Given the description of an element on the screen output the (x, y) to click on. 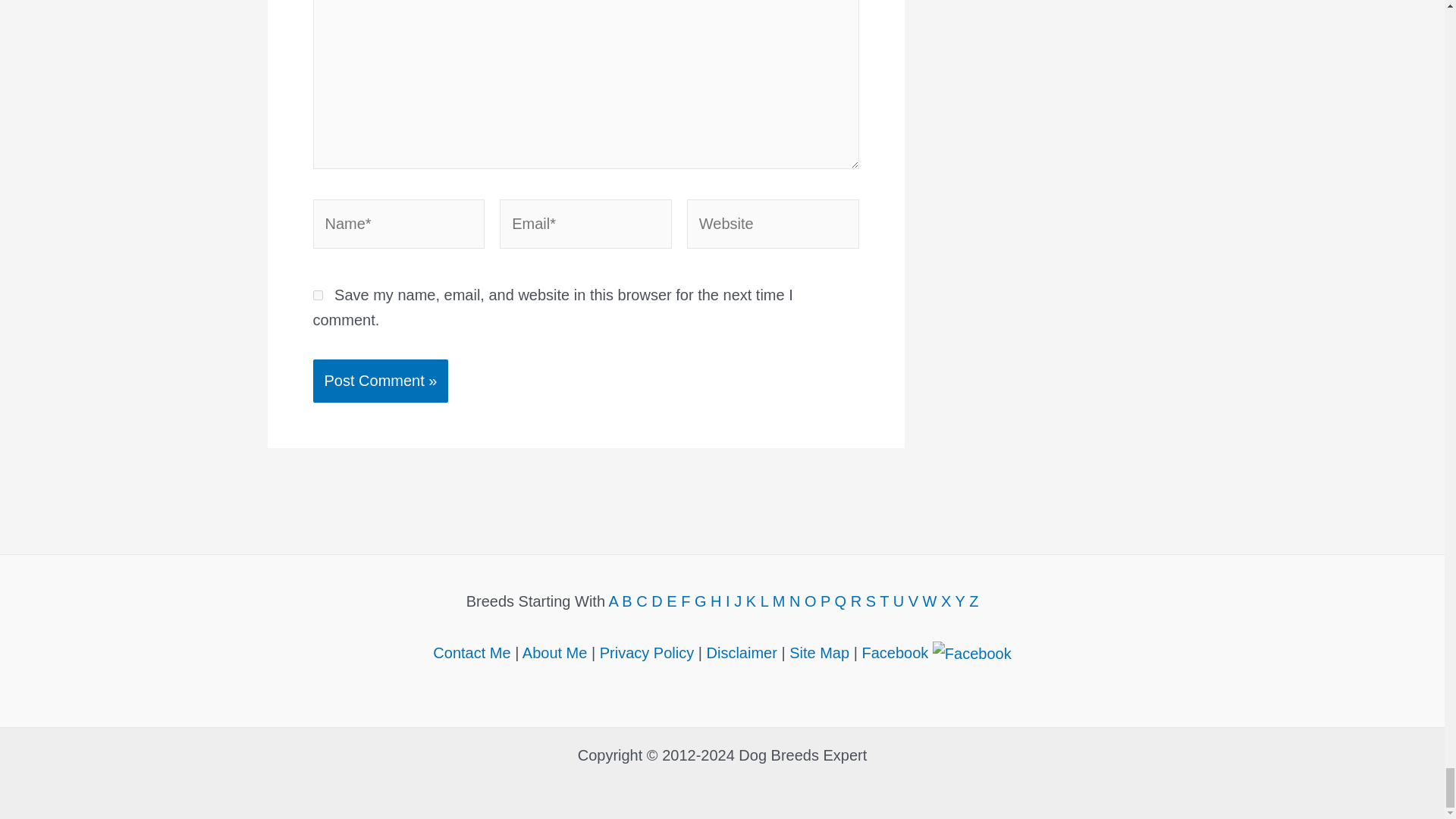
yes (317, 295)
